Given the description of an element on the screen output the (x, y) to click on. 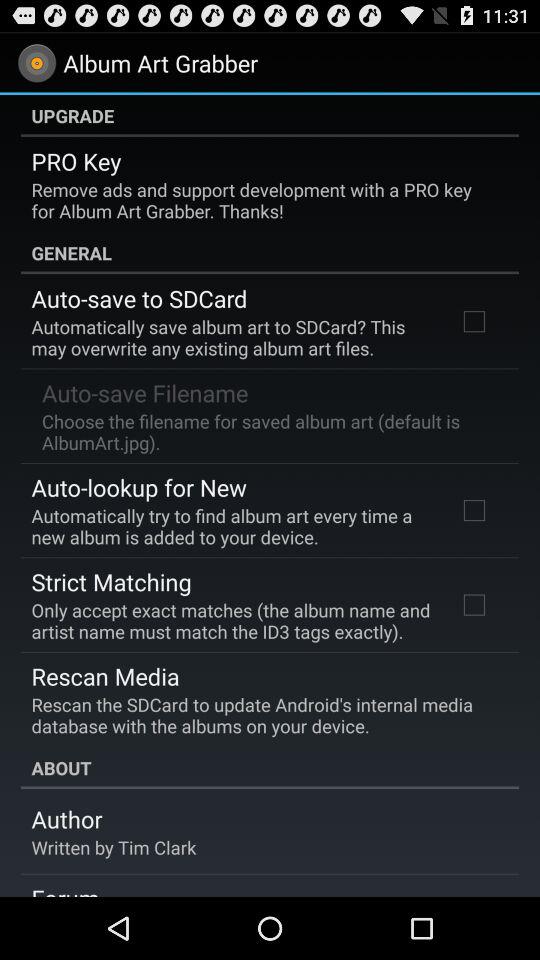
turn on the author item (66, 819)
